Given the description of an element on the screen output the (x, y) to click on. 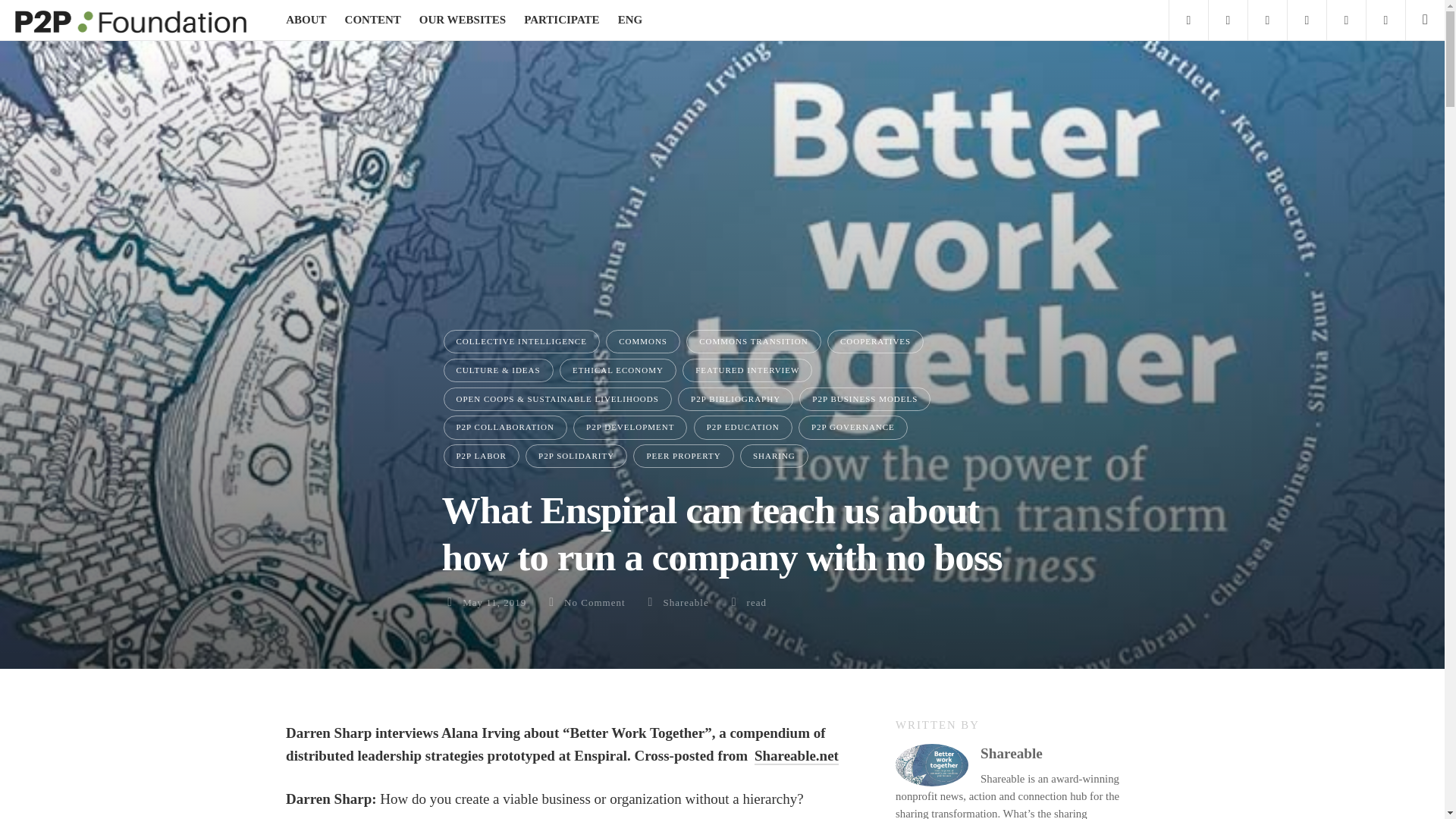
OUR WEBSITES (462, 20)
CONTENT (373, 20)
ABOUT (305, 20)
PARTICIPATE (561, 20)
